Given the description of an element on the screen output the (x, y) to click on. 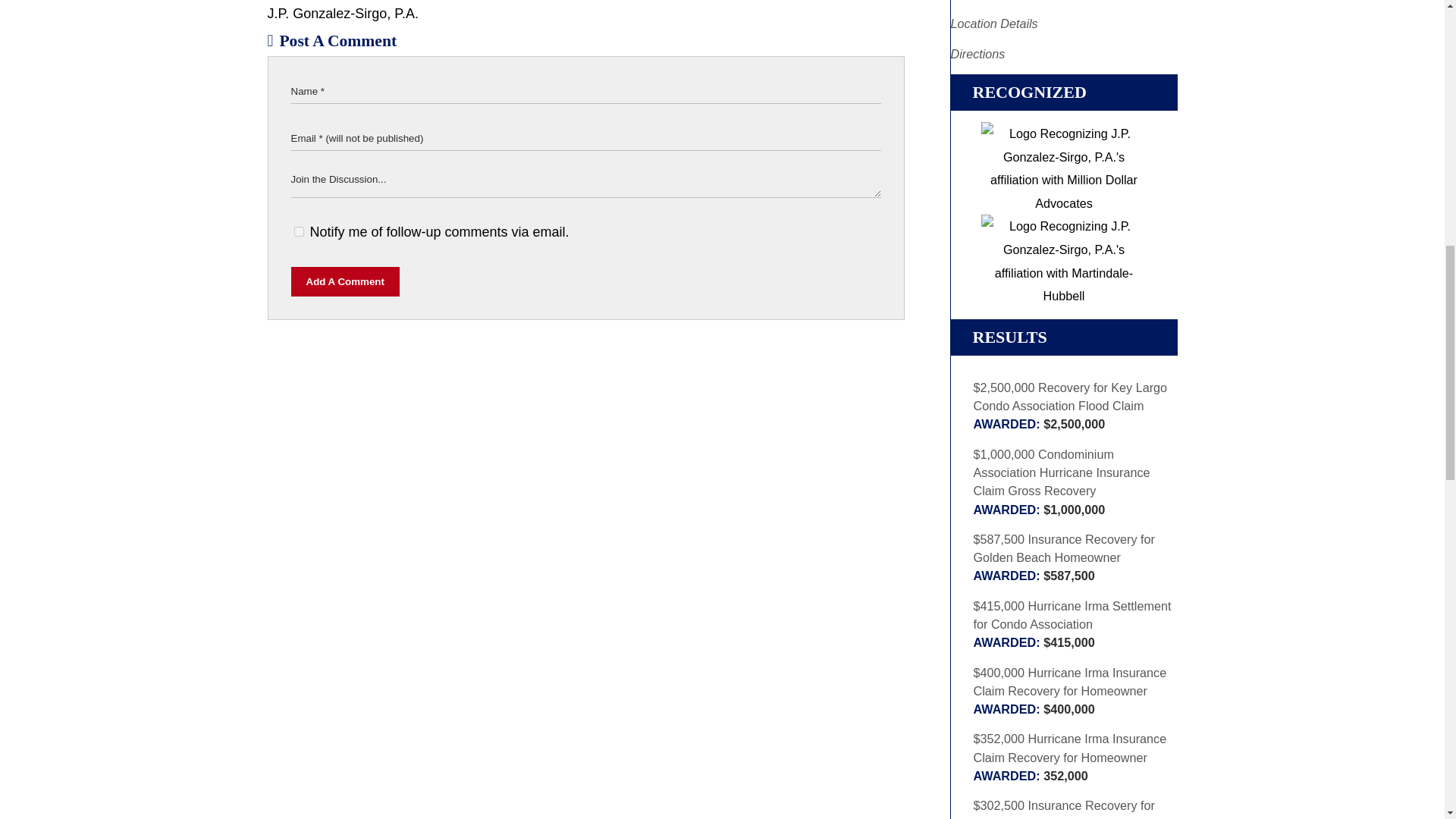
1 (299, 231)
